Given the description of an element on the screen output the (x, y) to click on. 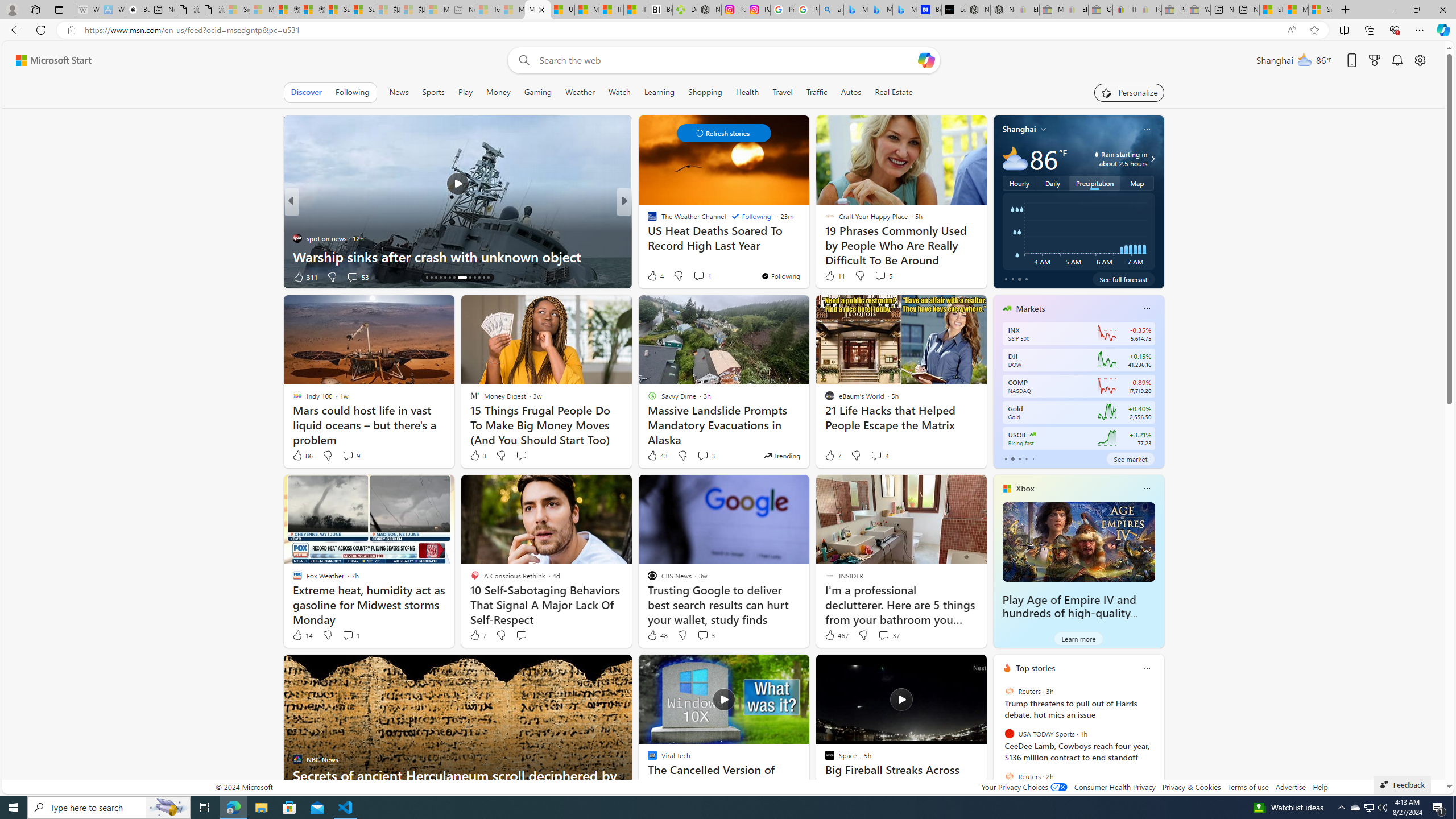
Mostly cloudy (1014, 158)
View comments 53 Comment (352, 276)
View comments 4 Comment (879, 455)
4 AM 5 AM 6 AM 7 AM (1077, 231)
